Given the description of an element on the screen output the (x, y) to click on. 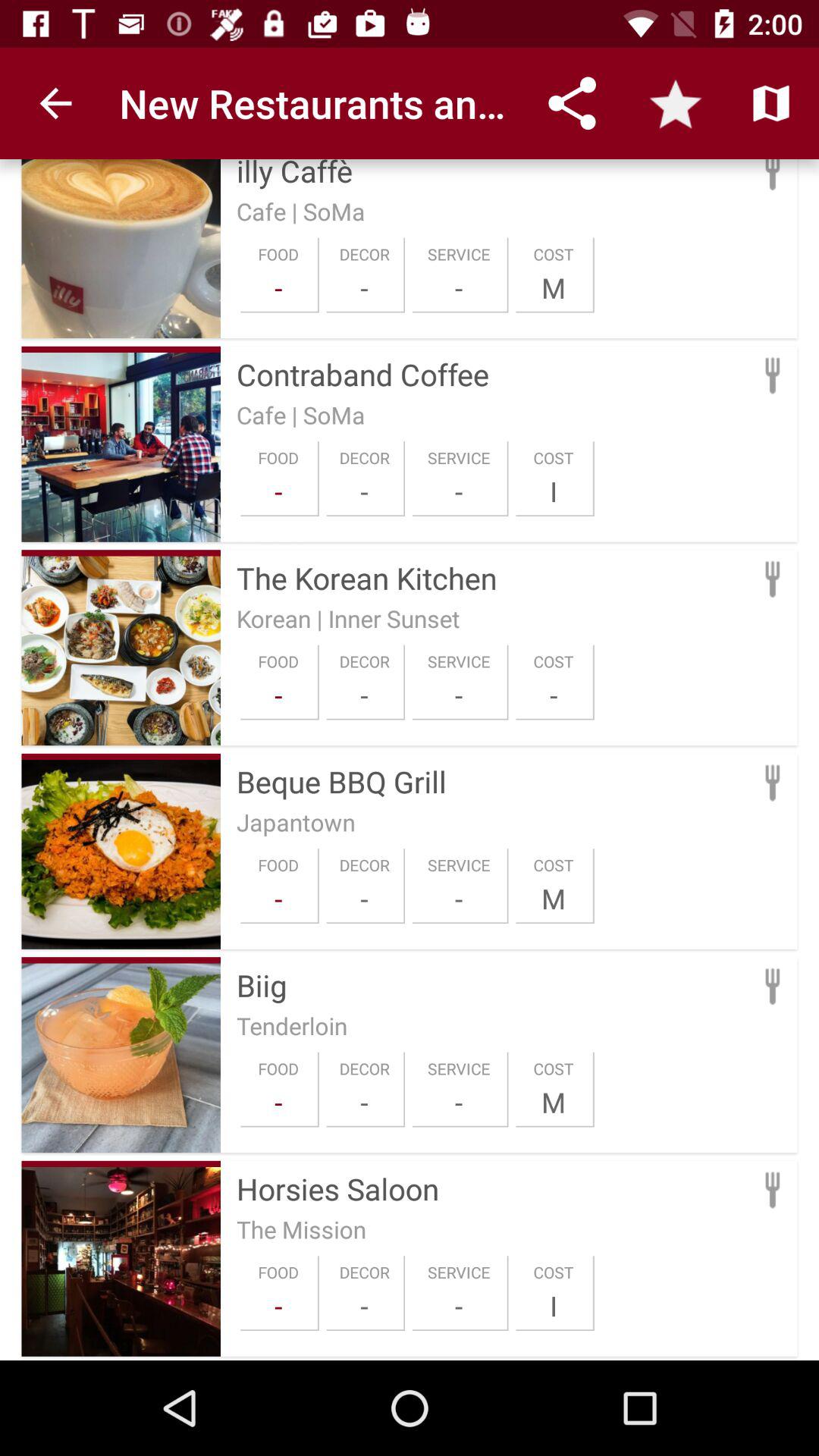
turn on - item (364, 694)
